Given the description of an element on the screen output the (x, y) to click on. 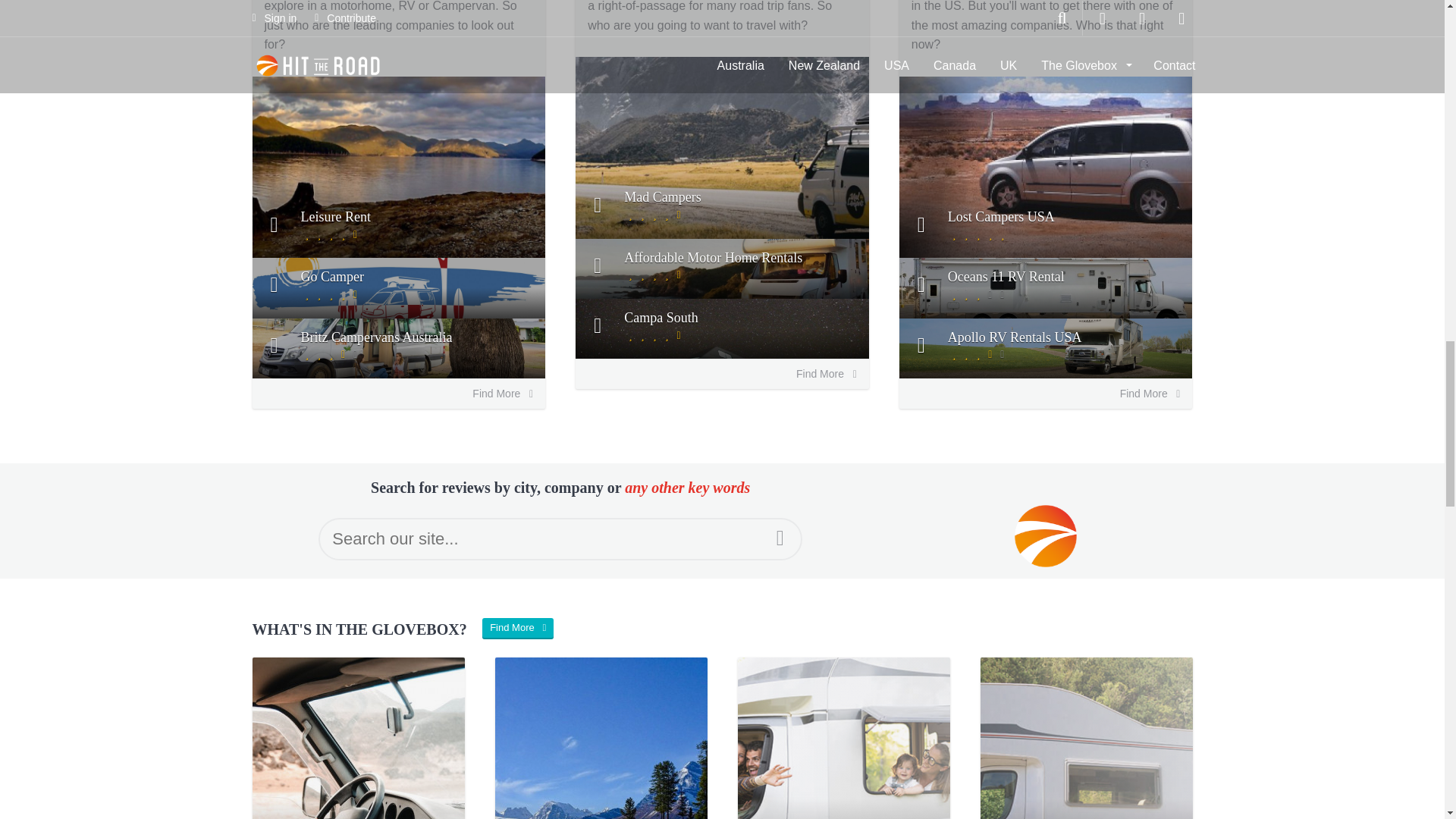
Lost Campers USA (1045, 227)
4.9 (654, 214)
3.0 (978, 294)
3.8 (330, 354)
4.9 (654, 335)
3.3 (978, 354)
5.0 (978, 234)
Britz Campervans Australia (397, 348)
Oceans 11 RV Rental (1045, 287)
Affordable Motor Home Rentals (722, 268)
4.8 (330, 234)
Apollo RV Rentals USA (1045, 348)
Campa South (722, 328)
5.0 (654, 274)
4.9 (330, 294)
